Given the description of an element on the screen output the (x, y) to click on. 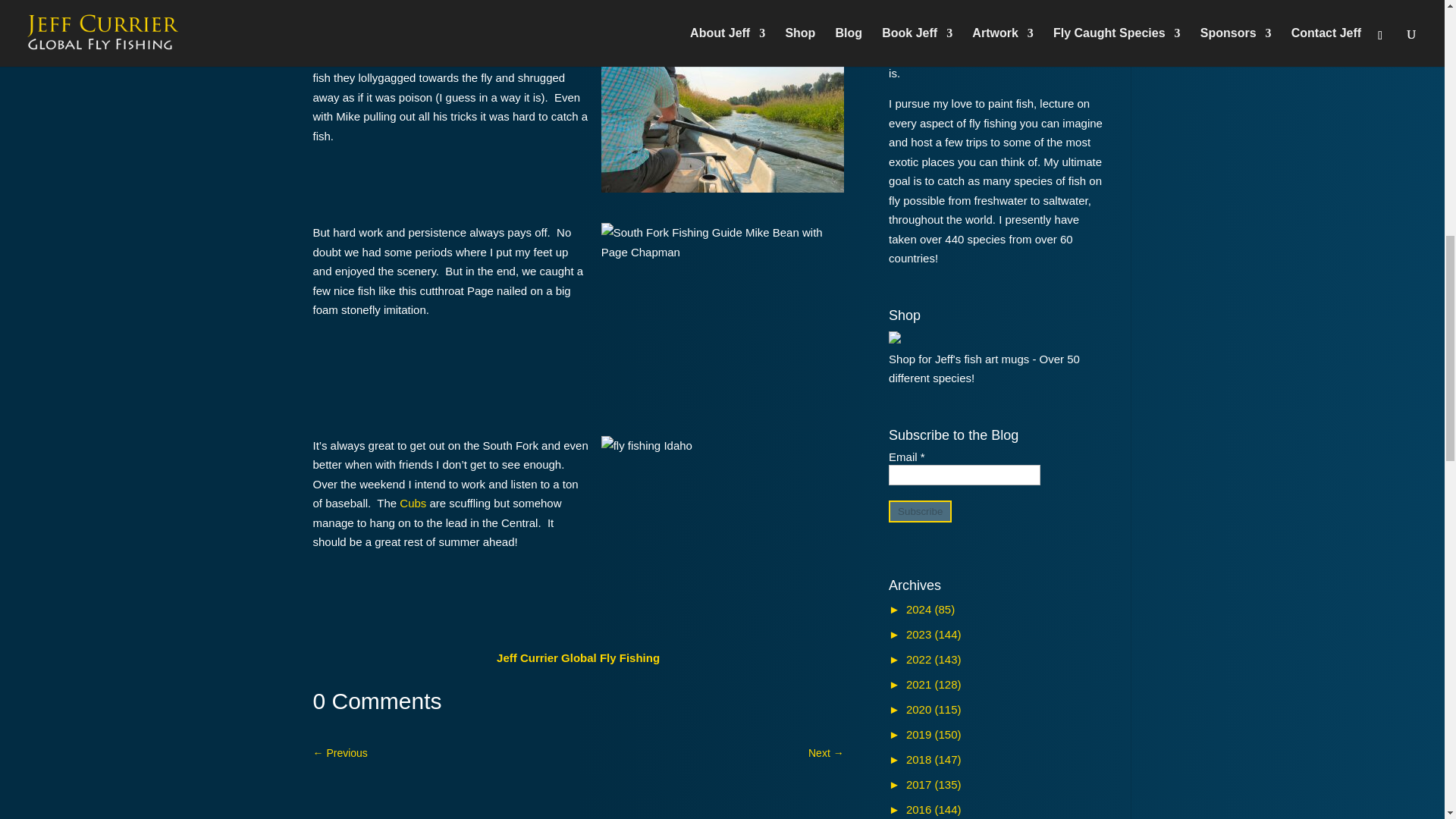
Subscribe (920, 511)
2024 (921, 608)
Email (964, 475)
